Given the description of an element on the screen output the (x, y) to click on. 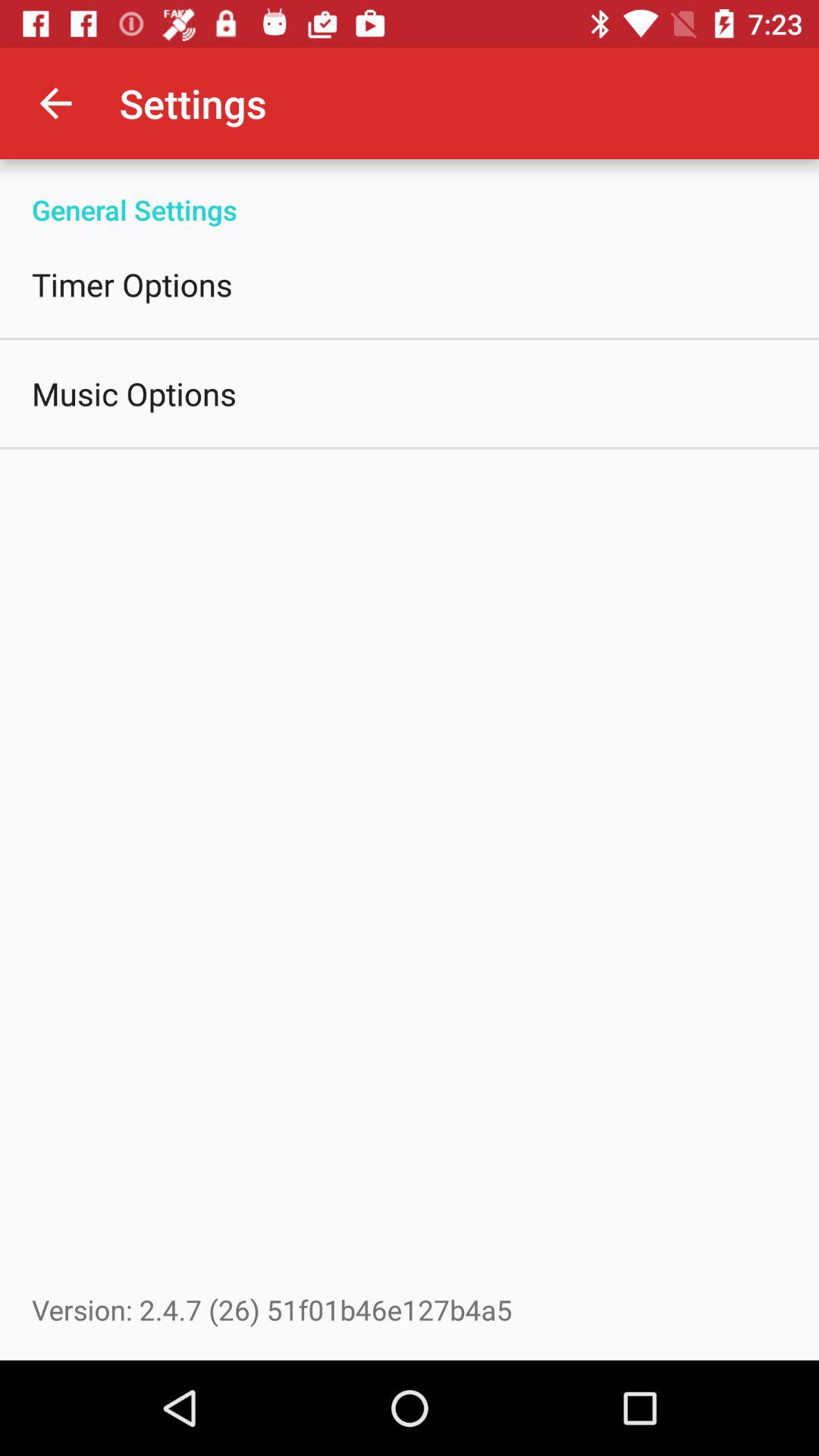
choose the icon above the timer options item (409, 193)
